Given the description of an element on the screen output the (x, y) to click on. 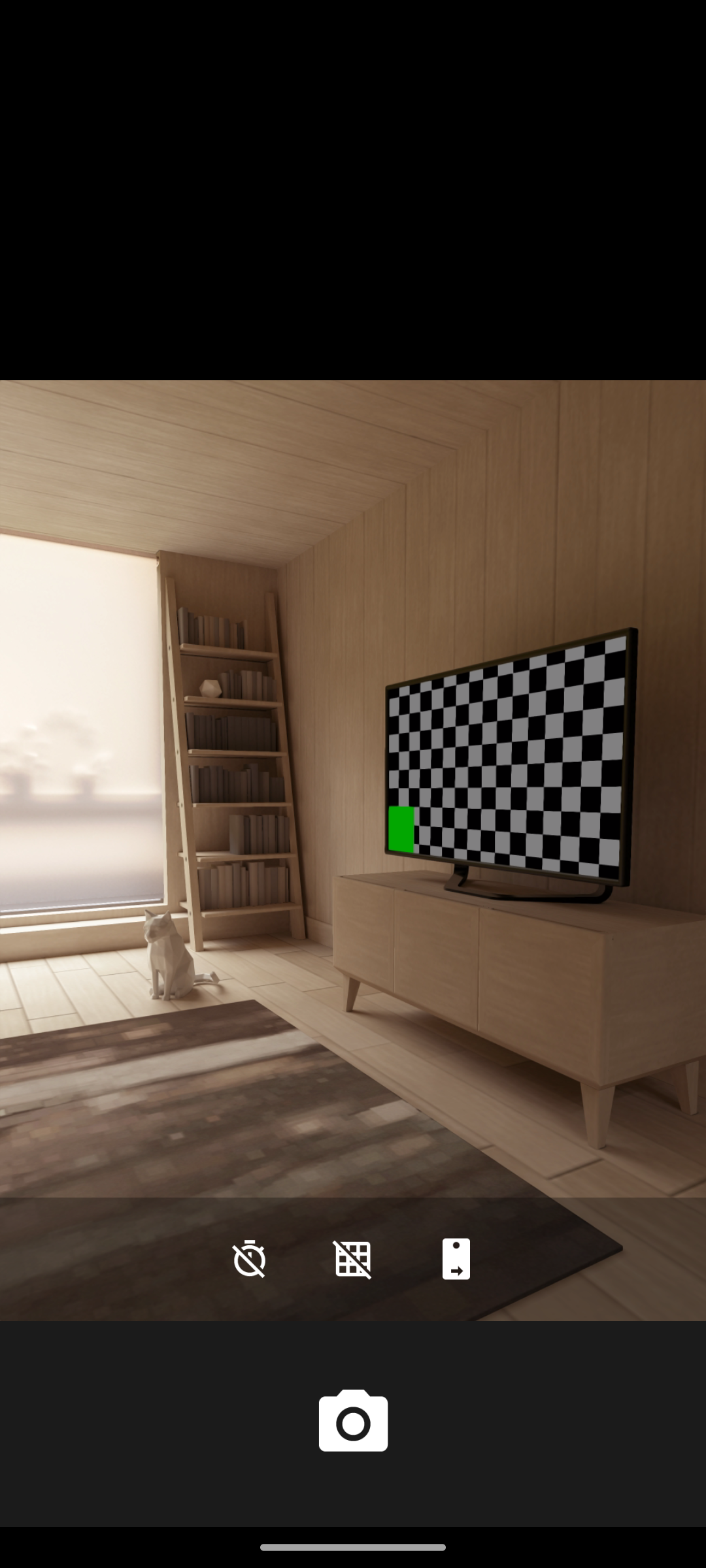
Countdown timer is off (249, 1258)
Grid lines off (352, 1258)
Back camera (456, 1258)
Shutter (353, 1423)
